Given the description of an element on the screen output the (x, y) to click on. 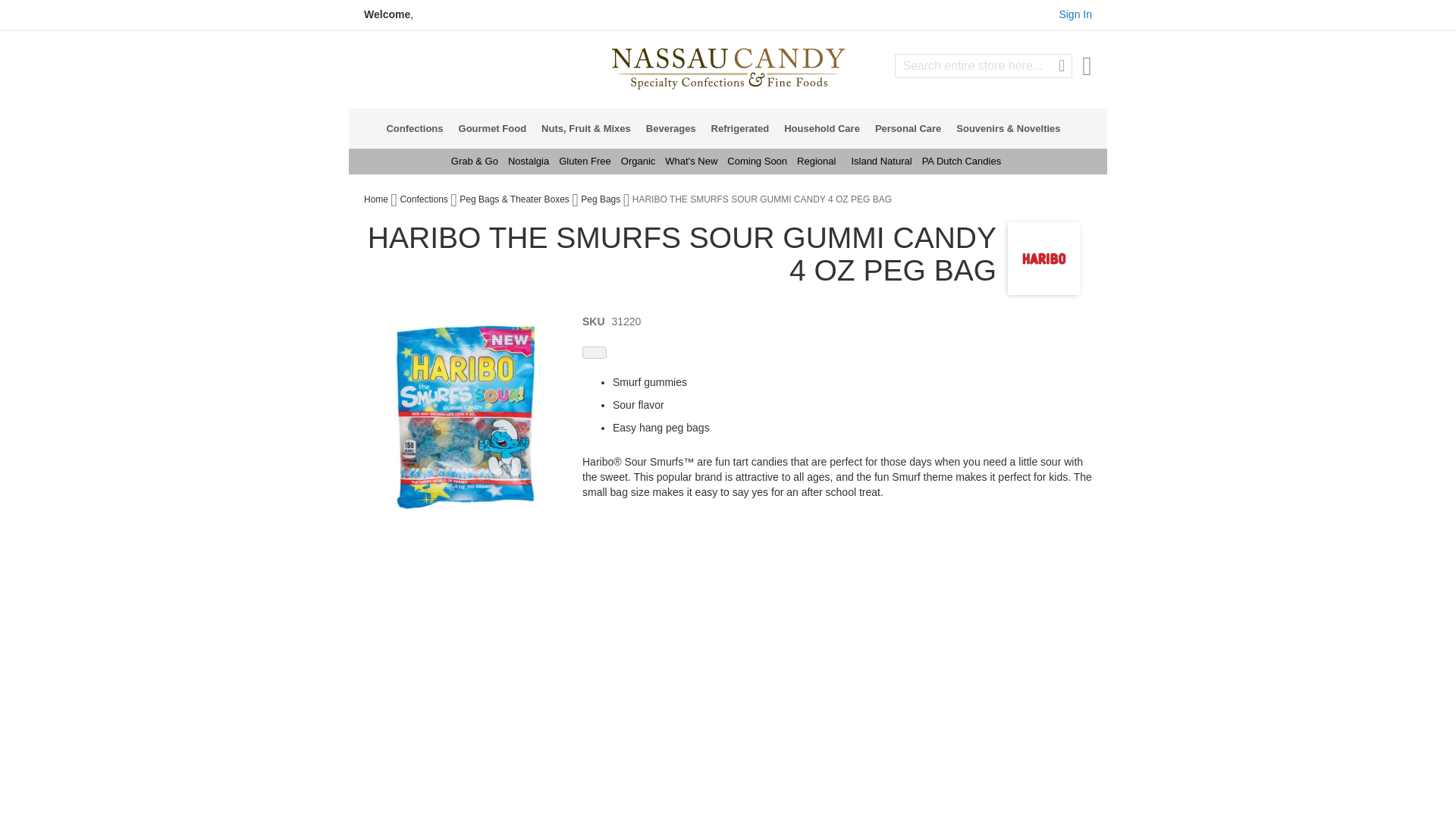
Sign In (1075, 14)
Gourmet Food (496, 128)
Go to Home Page (377, 199)
Confections (418, 128)
